Given the description of an element on the screen output the (x, y) to click on. 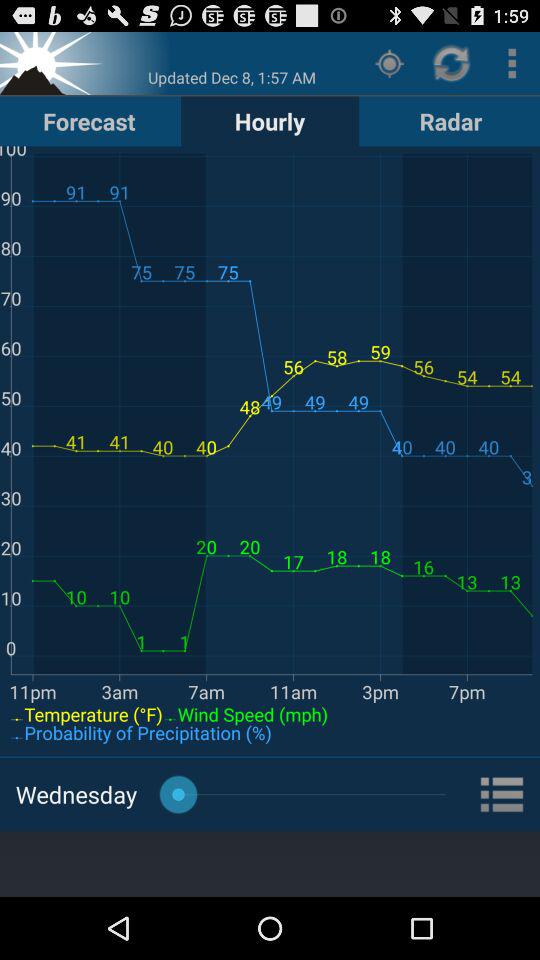
turn off the hourly icon (270, 120)
